Given the description of an element on the screen output the (x, y) to click on. 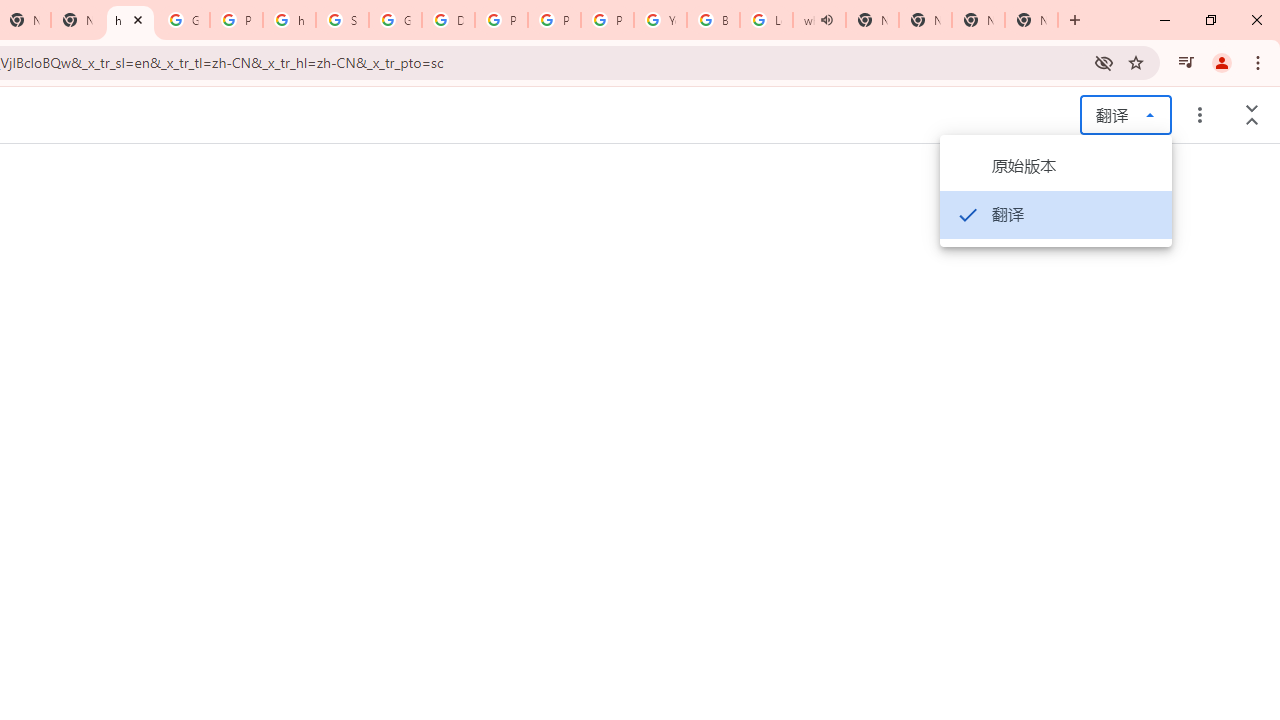
https://scholar.google.com/ (130, 20)
New Tab (978, 20)
YouTube (660, 20)
